Given the description of an element on the screen output the (x, y) to click on. 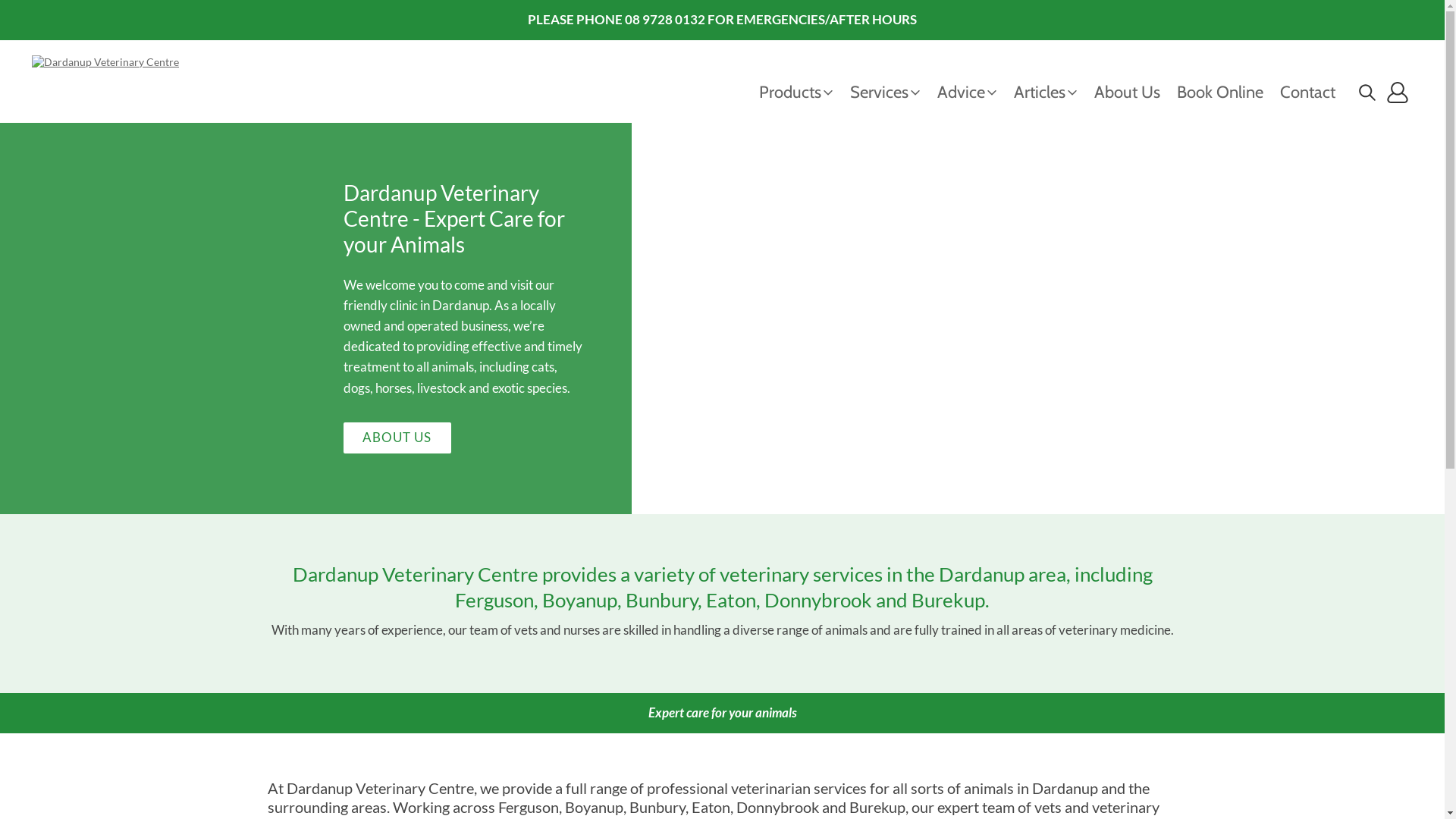
Products Element type: text (804, 91)
Contact Element type: text (1316, 91)
Articles Element type: text (1053, 91)
About Us Element type: text (1135, 91)
Profile Element type: hover (1397, 92)
08 9728 0132 FOR EMERGENCIES/AFTER HOURS Element type: text (770, 19)
Book Online Element type: text (1228, 91)
Services Element type: text (893, 91)
Search Element type: hover (1367, 92)
ABOUT US Element type: text (396, 437)
Advice Element type: text (975, 91)
  Element type: text (1367, 92)
